Given the description of an element on the screen output the (x, y) to click on. 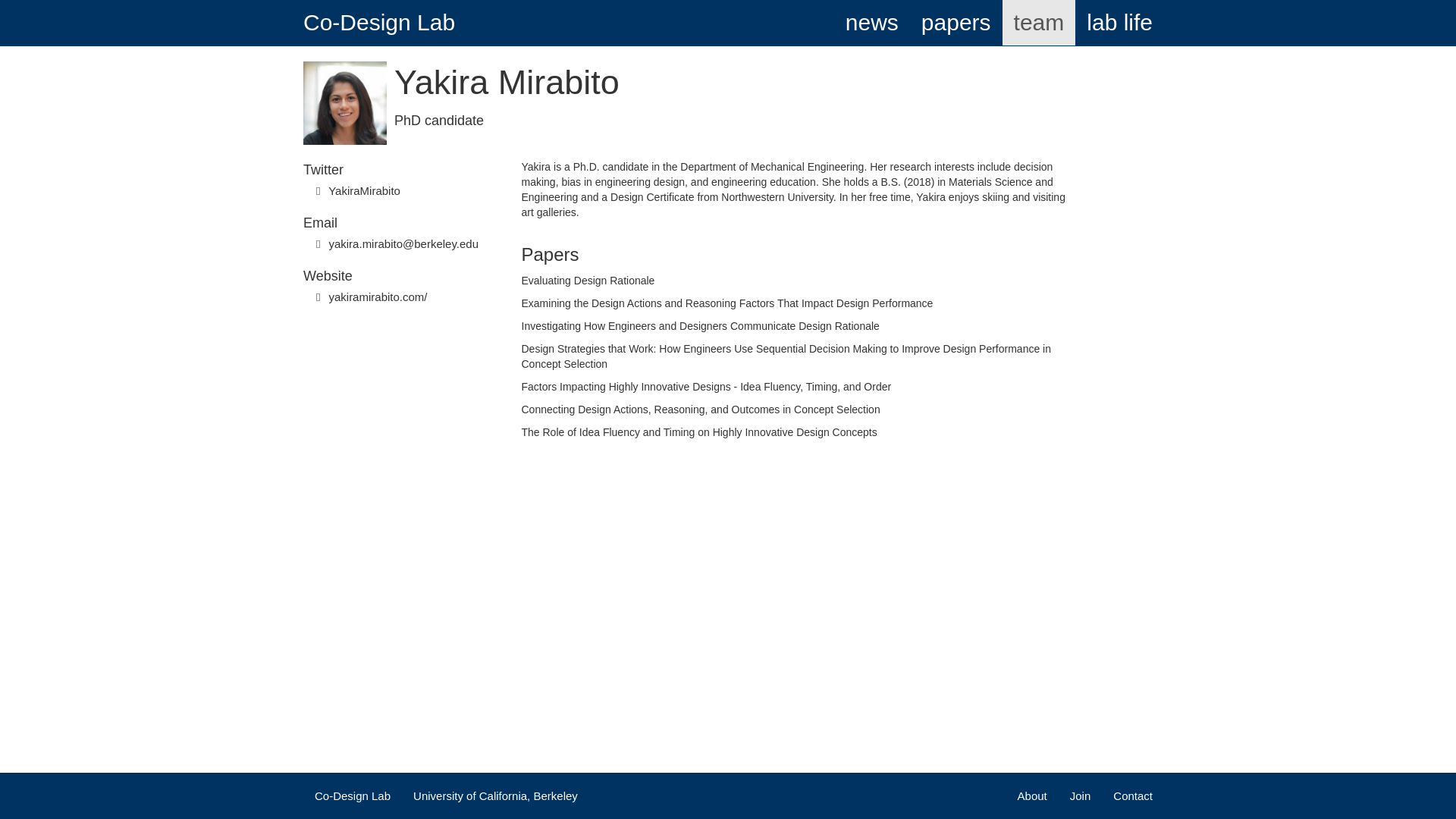
news (872, 22)
team (1039, 22)
lab life (1119, 22)
Evaluating Design Rationale (588, 280)
YakiraMirabito (364, 190)
Co-Design Lab (378, 22)
